Given the description of an element on the screen output the (x, y) to click on. 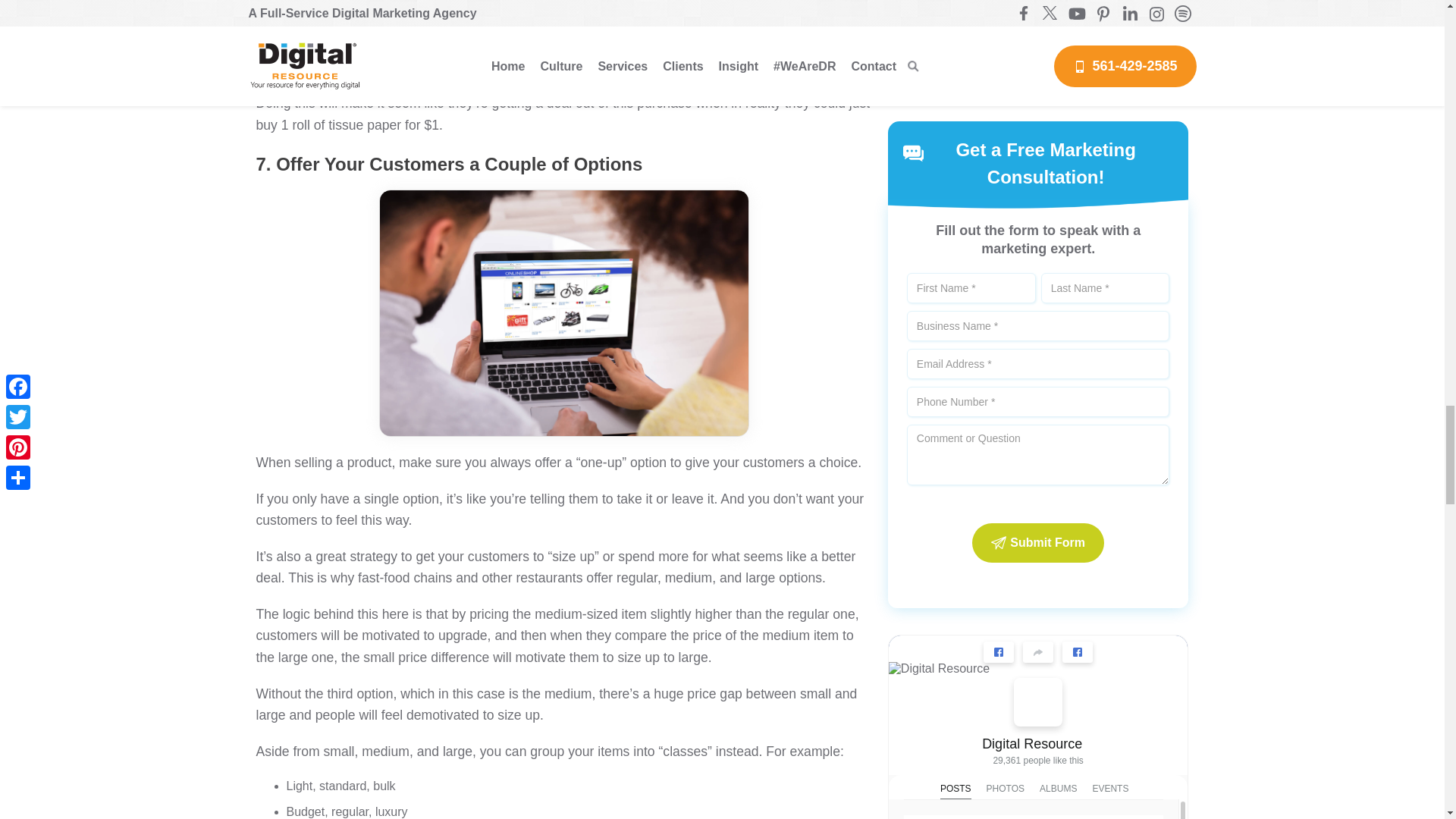
Like: 6 (921, 153)
Like: 7 (921, 388)
